Given the description of an element on the screen output the (x, y) to click on. 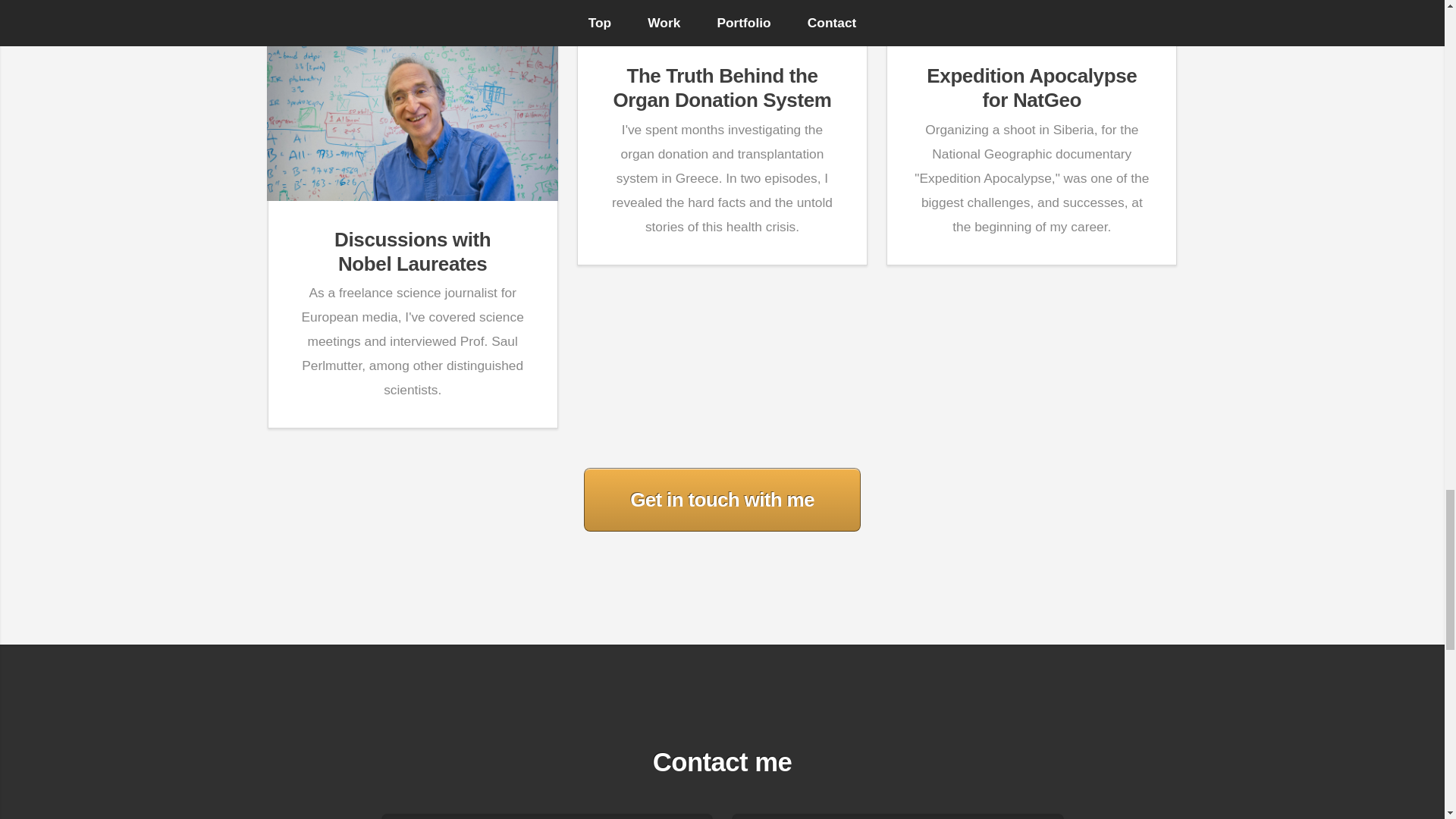
Expedition Apocalypse for NatGeo (1031, 87)
The Truth Behind the Organ Donation System (721, 87)
Get in touch with me (721, 499)
Get in touch with me (412, 251)
